Given the description of an element on the screen output the (x, y) to click on. 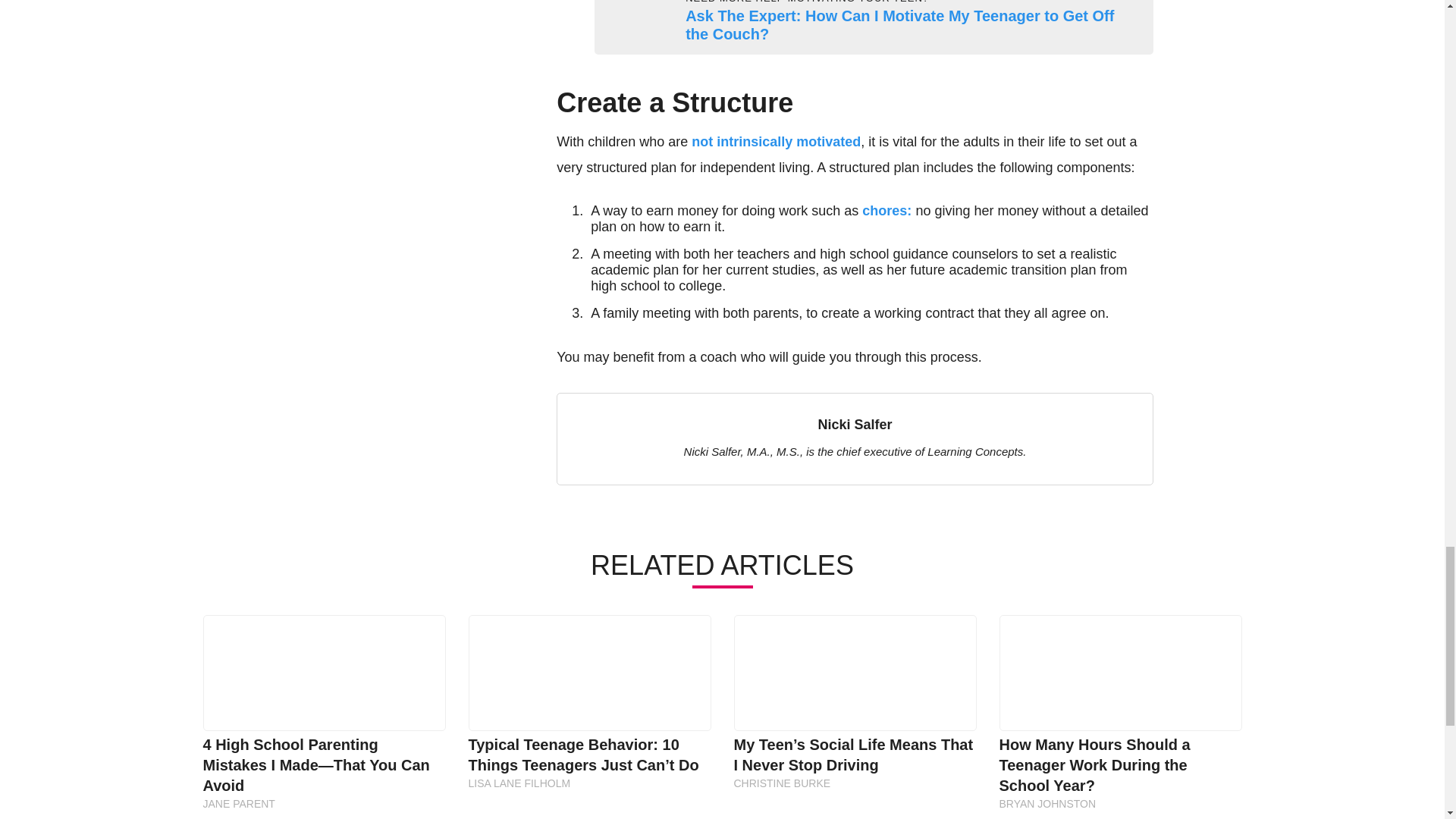
My Daughter Won't Challenge Herself at School (775, 141)
5 Reasons Your Teen Needs Chores (886, 210)
boy-eating-popcorn (612, 22)
